Given the description of an element on the screen output the (x, y) to click on. 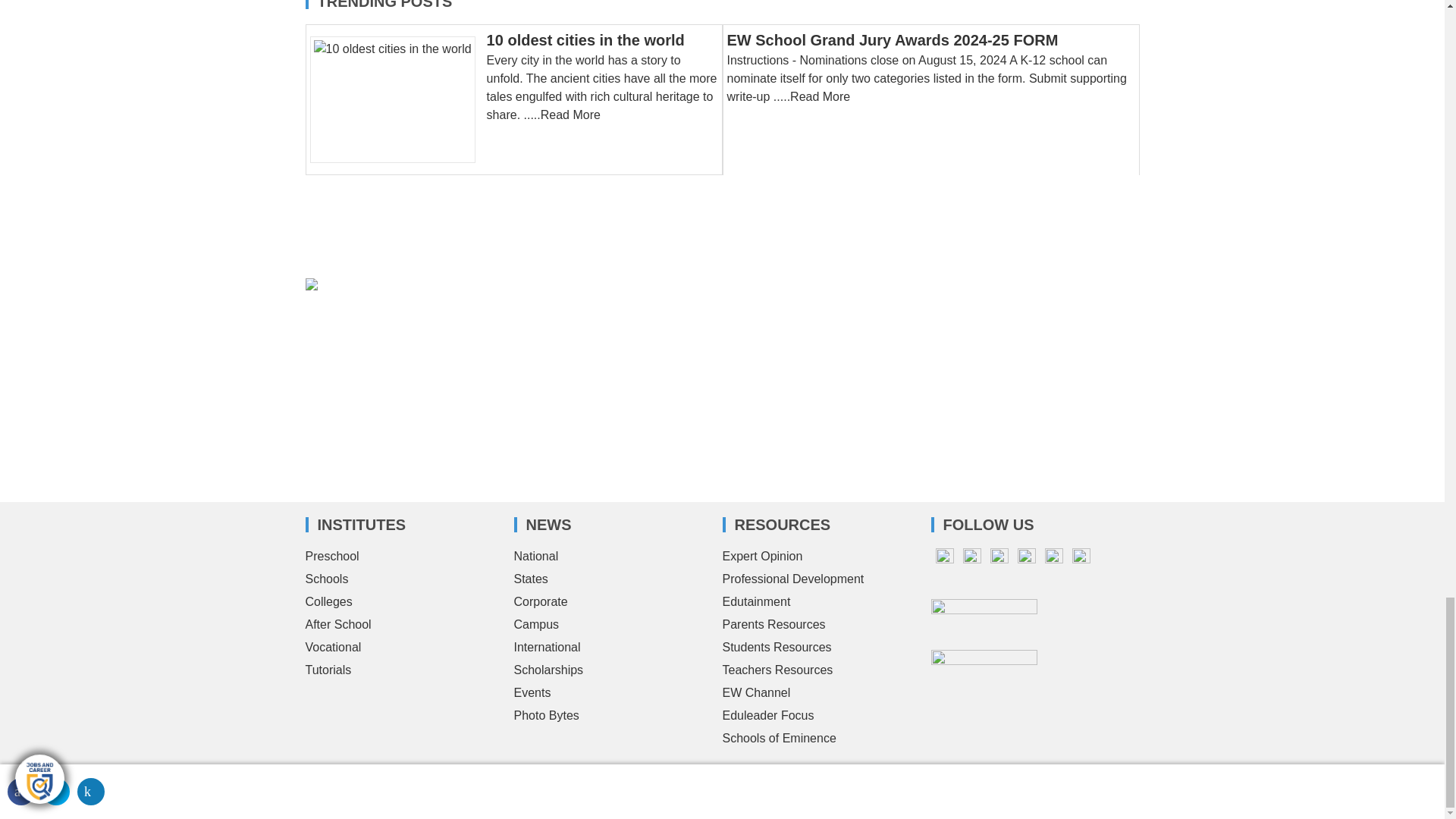
EducationWorld (389, 775)
10 oldest cities in the world (397, 99)
EW School Grand Jury Awards 2024-25 FORM (892, 39)
10 oldest cities in the world (585, 39)
